Given the description of an element on the screen output the (x, y) to click on. 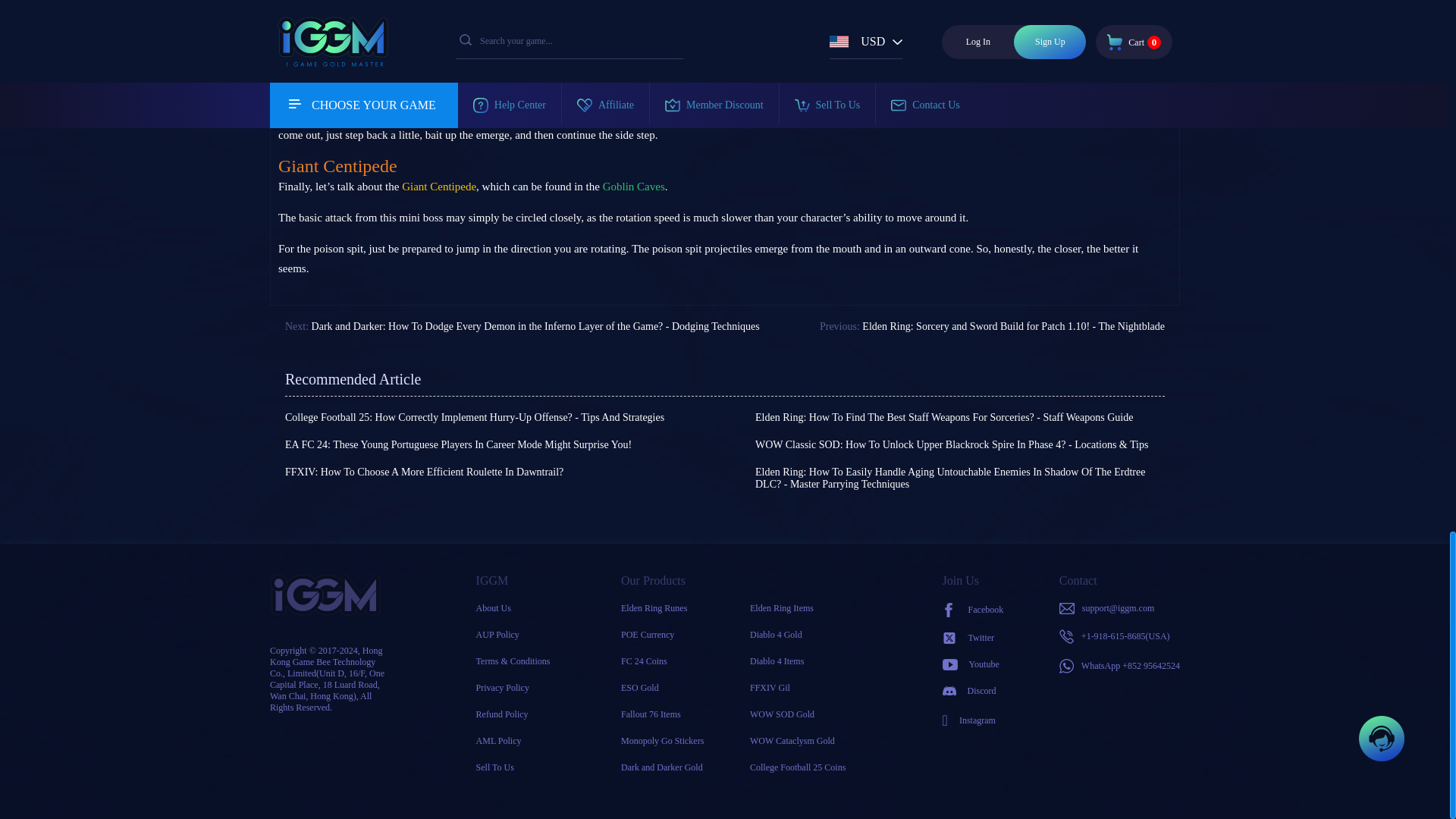
youtube (973, 664)
twitter (973, 637)
facebook (973, 609)
Instagram (973, 720)
discord (973, 690)
